Given the description of an element on the screen output the (x, y) to click on. 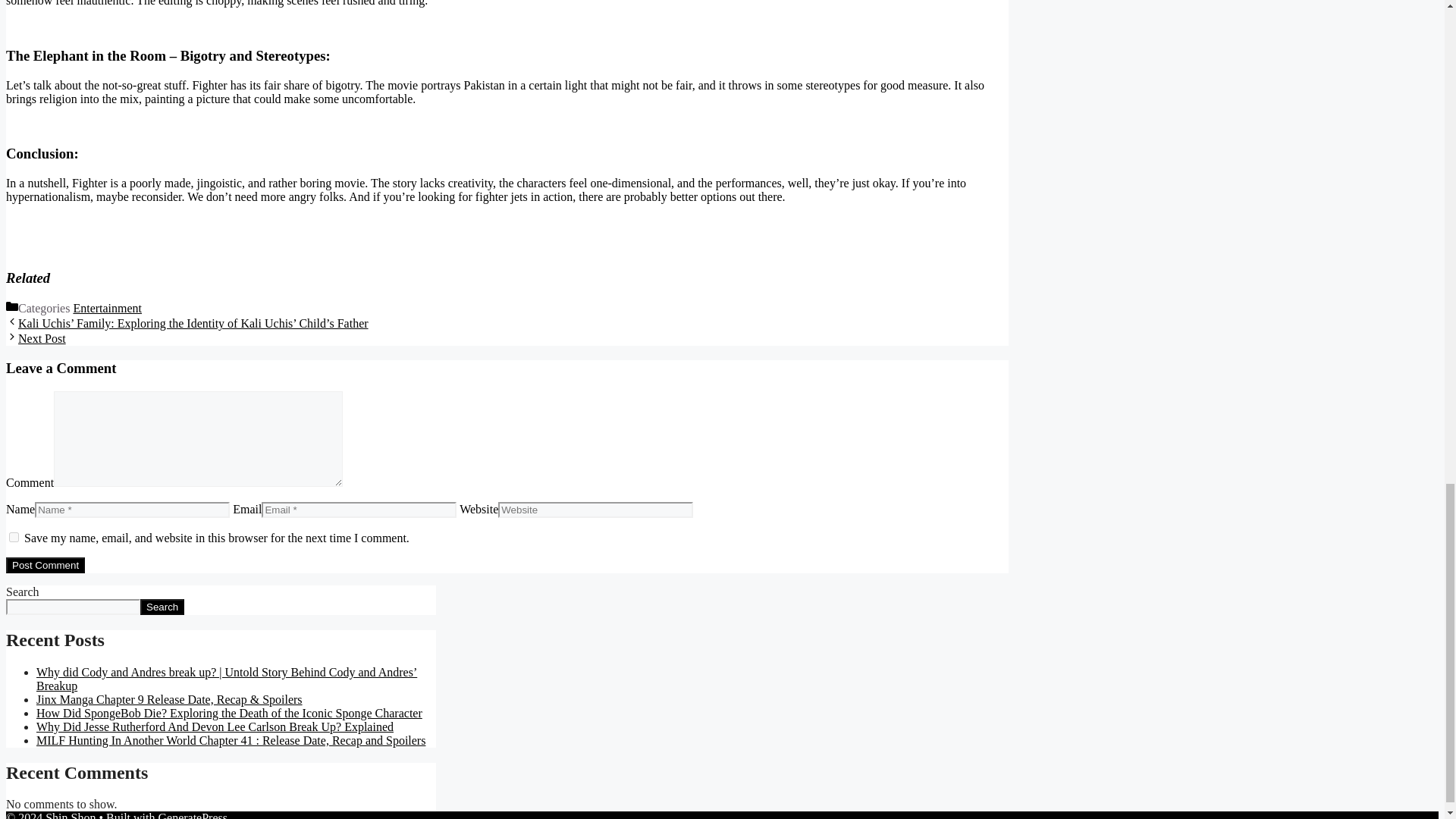
Post Comment (44, 565)
Entertainment (106, 308)
Search (161, 606)
Post Comment (44, 565)
yes (13, 537)
Next Post (41, 338)
